Given the description of an element on the screen output the (x, y) to click on. 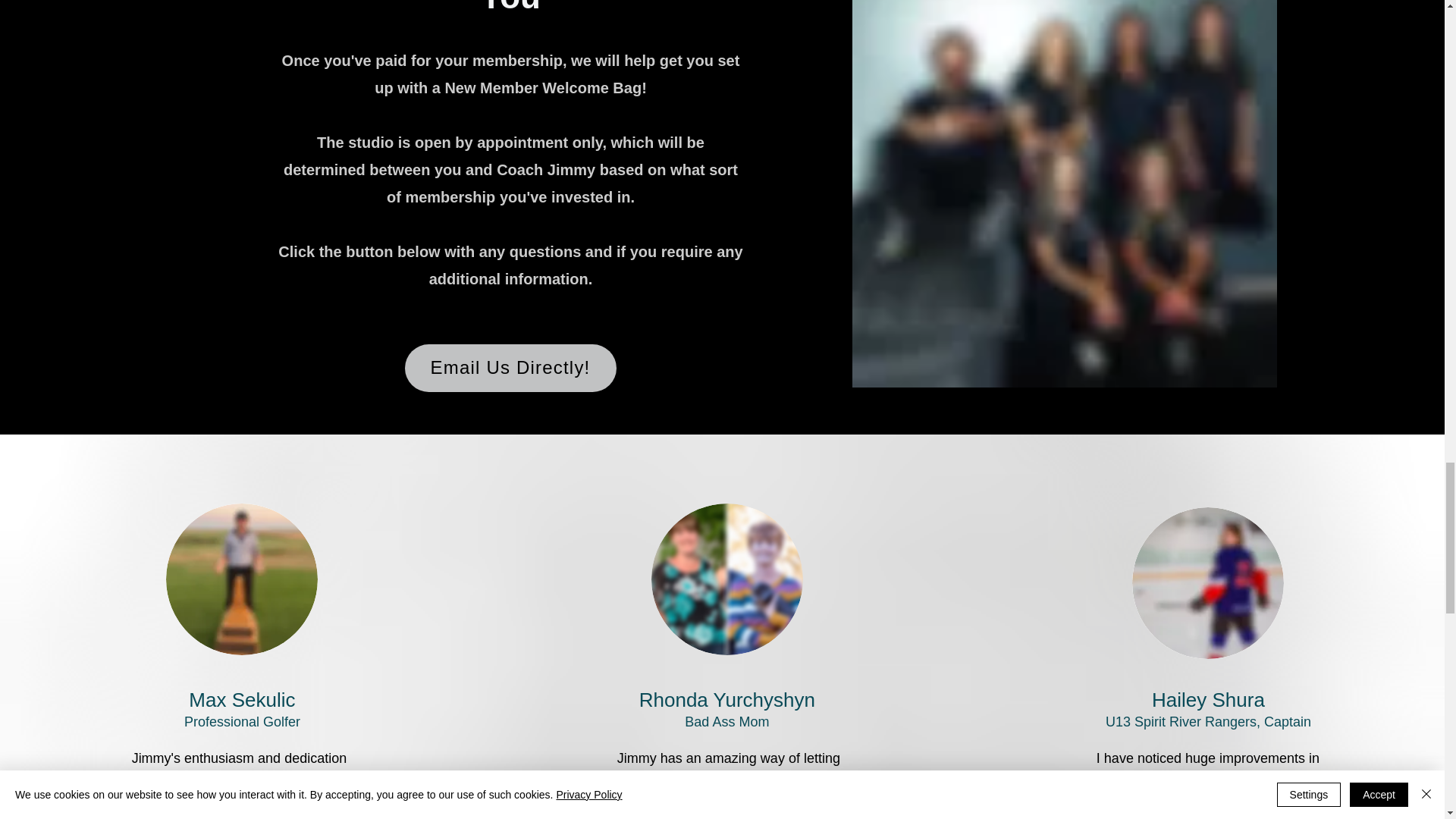
GettyImages-145680711.jpg (1208, 582)
GettyImages-535587703.jpg (241, 579)
GettyImages-124893619.jpg (726, 579)
Email Us Directly! (509, 367)
